Given the description of an element on the screen output the (x, y) to click on. 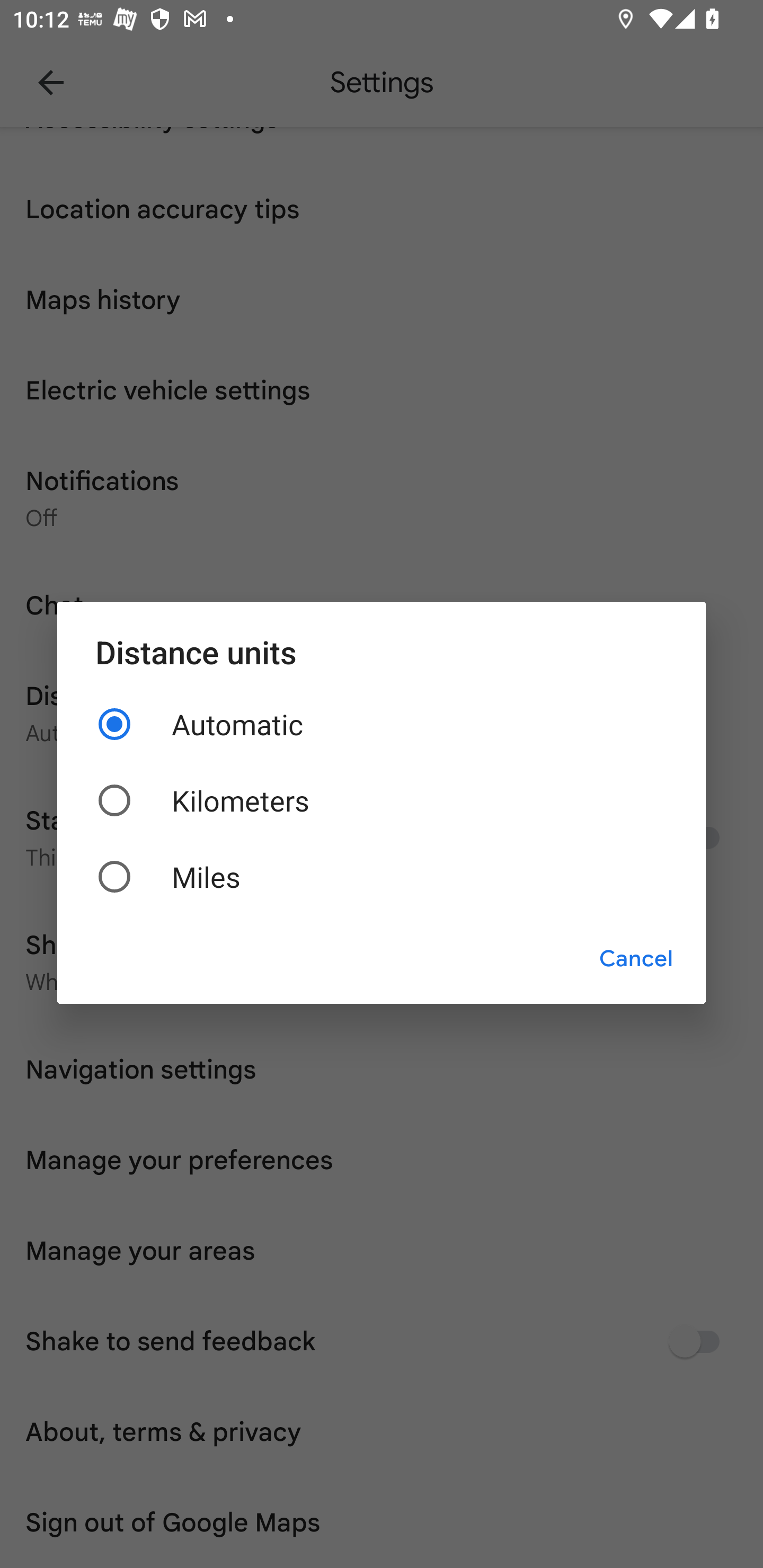
Automatic (381, 724)
Kilometers (381, 800)
Miles (381, 876)
Cancel (635, 959)
